Given the description of an element on the screen output the (x, y) to click on. 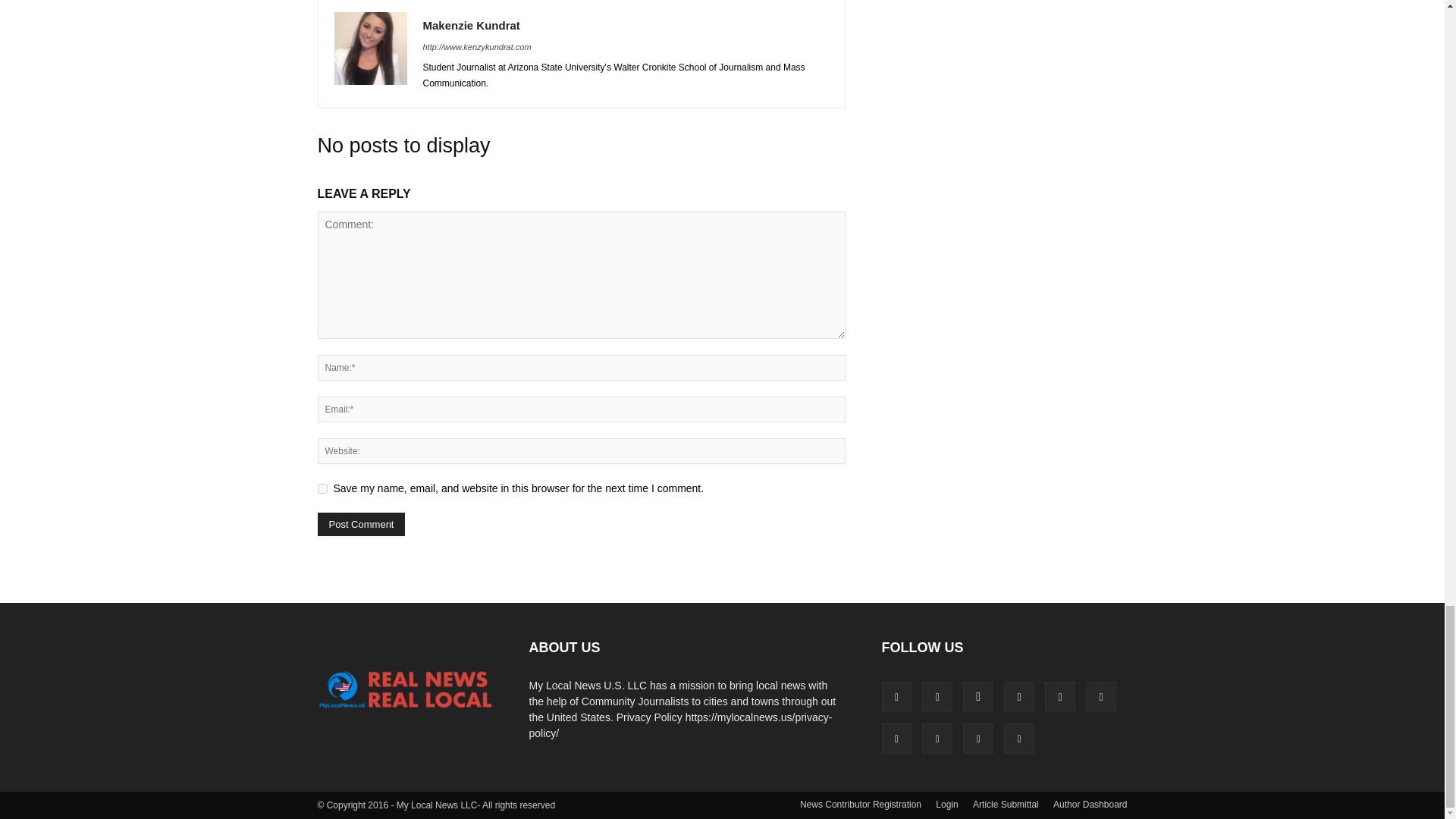
Post Comment (360, 524)
yes (321, 488)
